Given the description of an element on the screen output the (x, y) to click on. 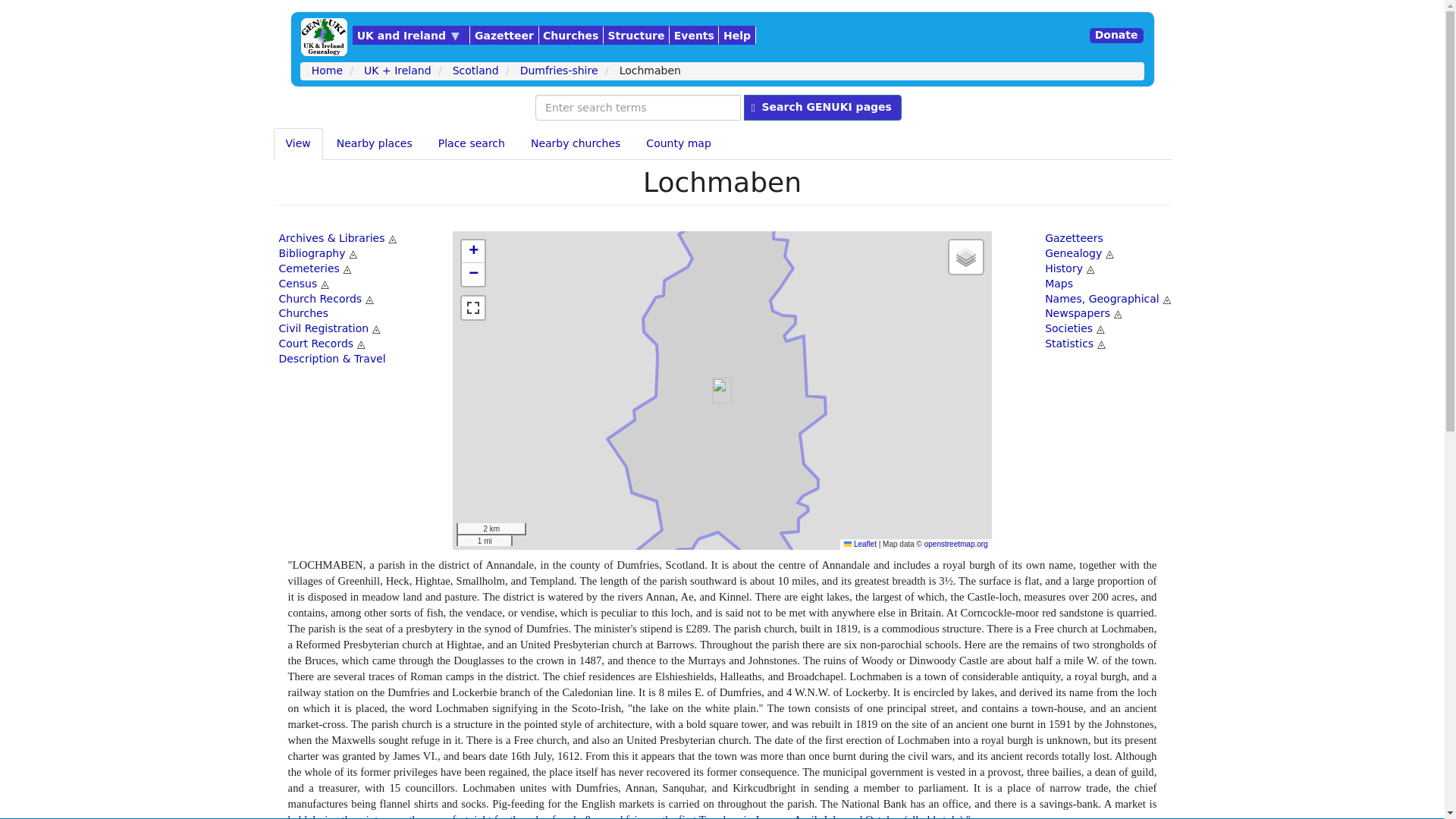
United Kingdom and Ireland (410, 35)
Home (324, 37)
